Given the description of an element on the screen output the (x, y) to click on. 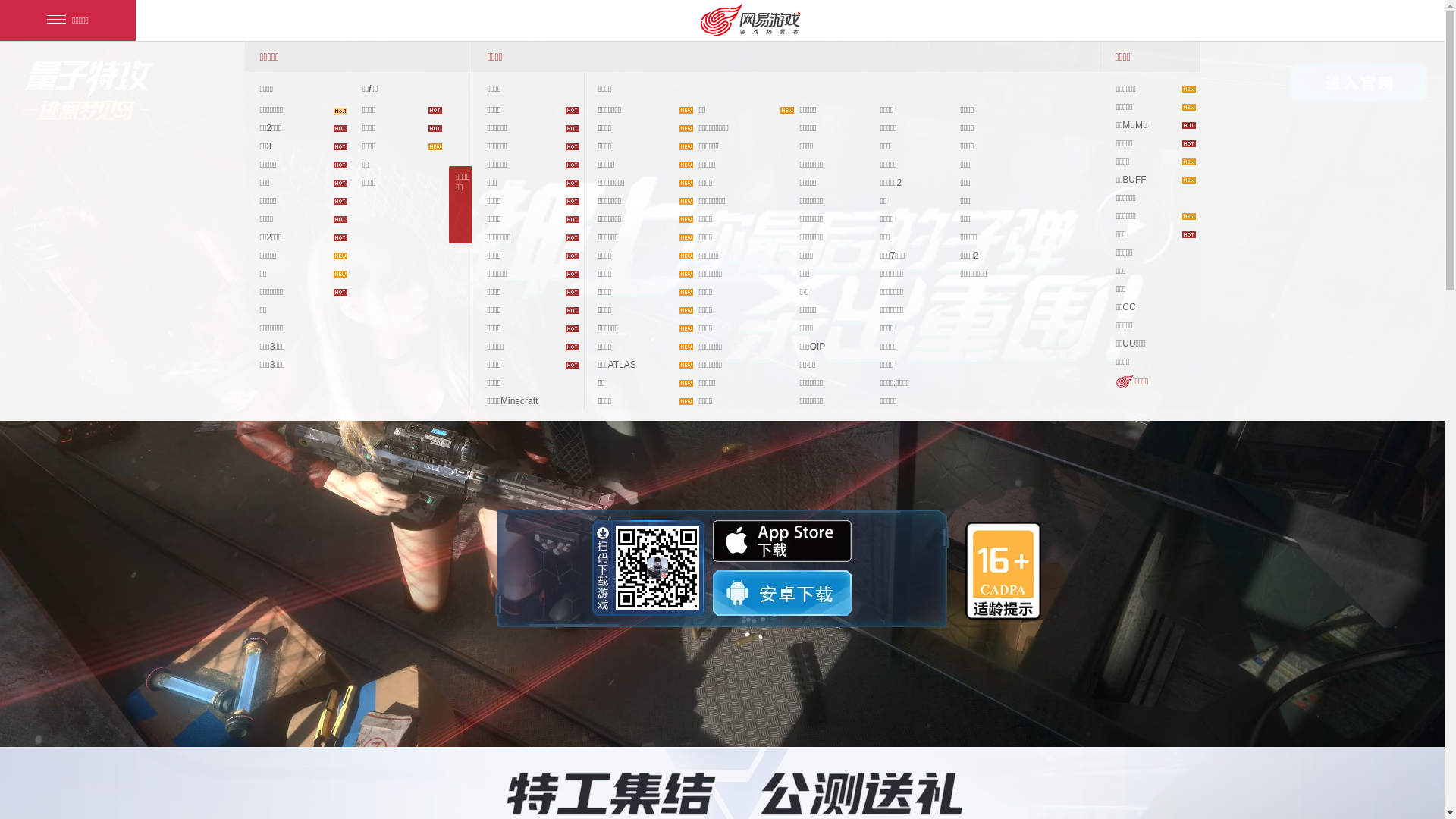
logo Element type: hover (86, 90)
NIE-button-android Element type: hover (781, 592)
NIE-button-ios Element type: hover (781, 540)
